Given the description of an element on the screen output the (x, y) to click on. 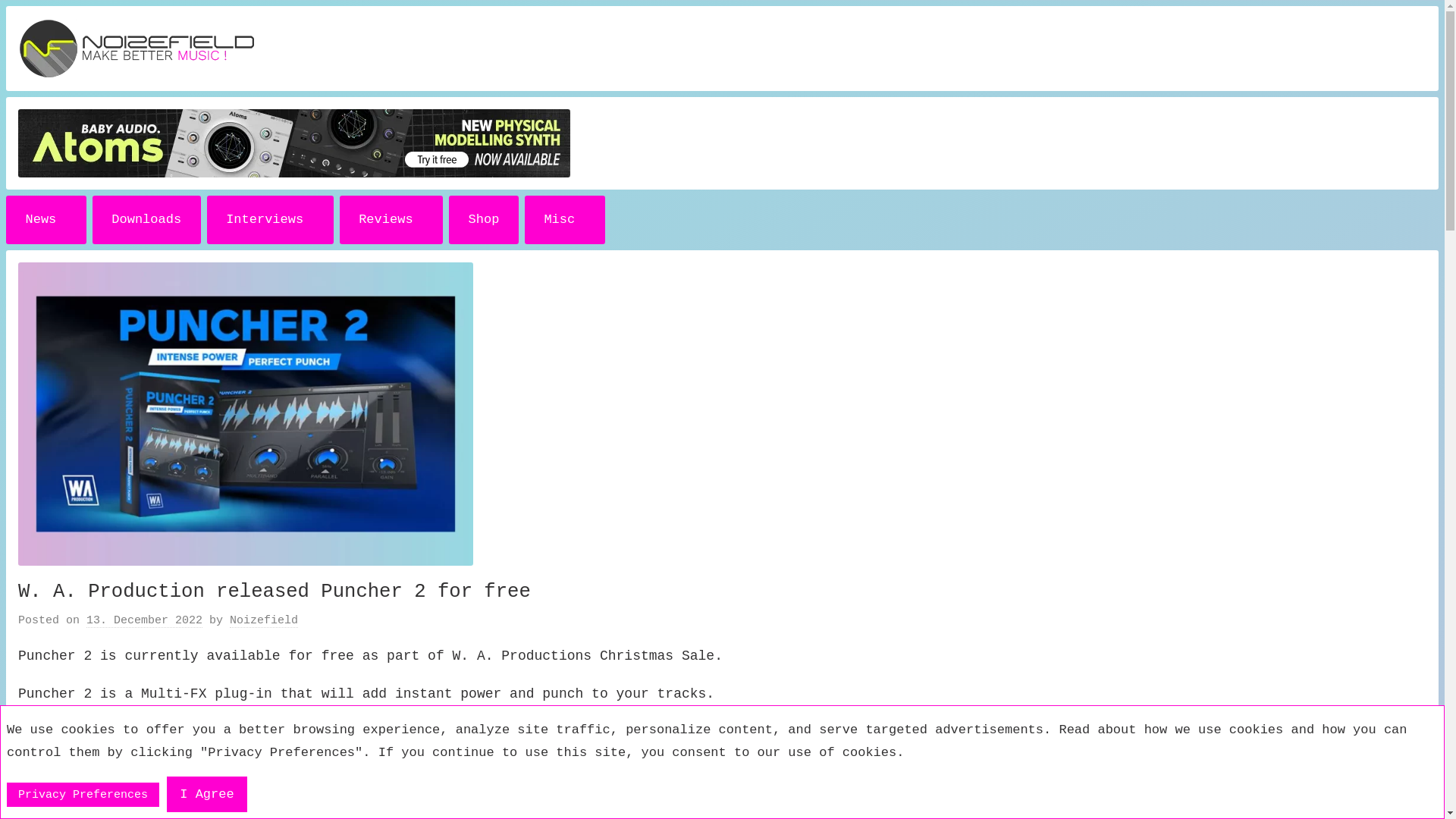
Shop (483, 219)
Reviews (390, 219)
Noizefield News (45, 219)
Noizefield Shirt Shop (483, 219)
Privacy Preferences (82, 794)
Interviews (269, 219)
I Agree (206, 794)
View all posts by Noizefield (264, 621)
News (45, 219)
Downloads (146, 219)
Misc (564, 219)
